Given the description of an element on the screen output the (x, y) to click on. 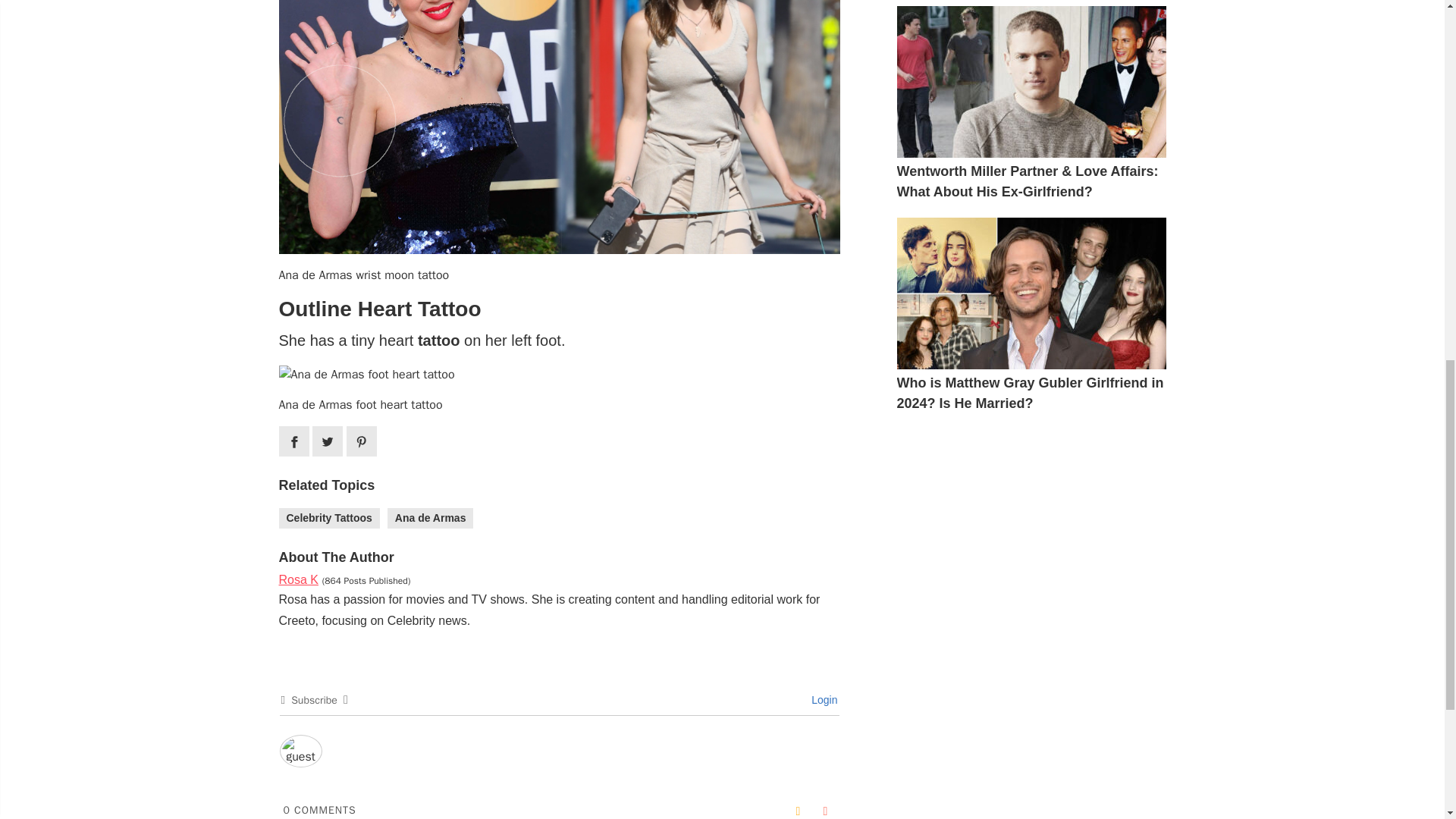
Celebrity Tattoos (329, 517)
Login (821, 699)
Ana de Armas (430, 517)
Posts by Rosa K (298, 579)
Rosa K (298, 579)
